Given the description of an element on the screen output the (x, y) to click on. 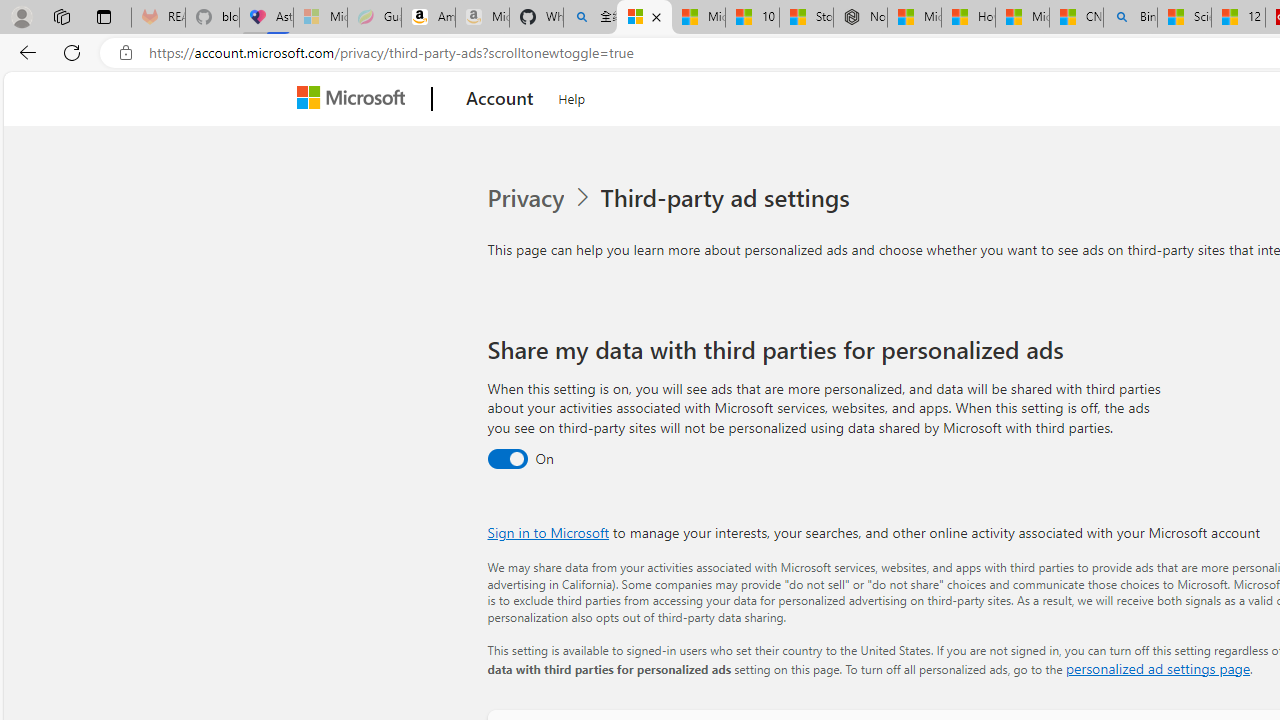
Third-party ad settings (729, 197)
Account (499, 99)
